Given the description of an element on the screen output the (x, y) to click on. 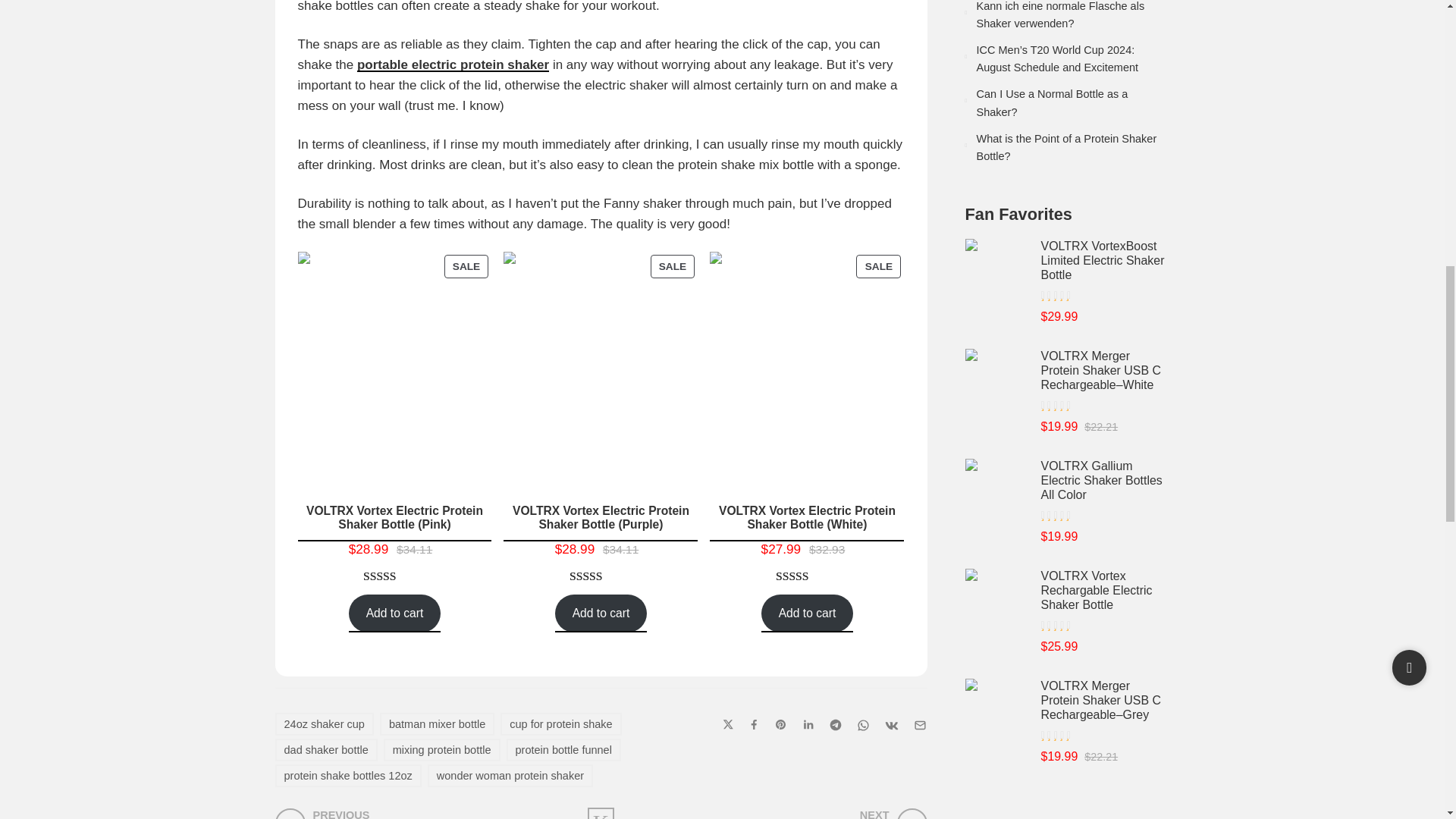
Add to cart (395, 613)
24oz shaker cup (323, 723)
protein shake bottles 12oz (347, 775)
Add to cart (600, 613)
mixing protein bottle (442, 749)
Add to cart (807, 613)
wonder woman protein shaker (510, 775)
protein bottle funnel (563, 749)
dad shaker bottle (326, 749)
portable electric protein shaker (452, 64)
